Given the description of an element on the screen output the (x, y) to click on. 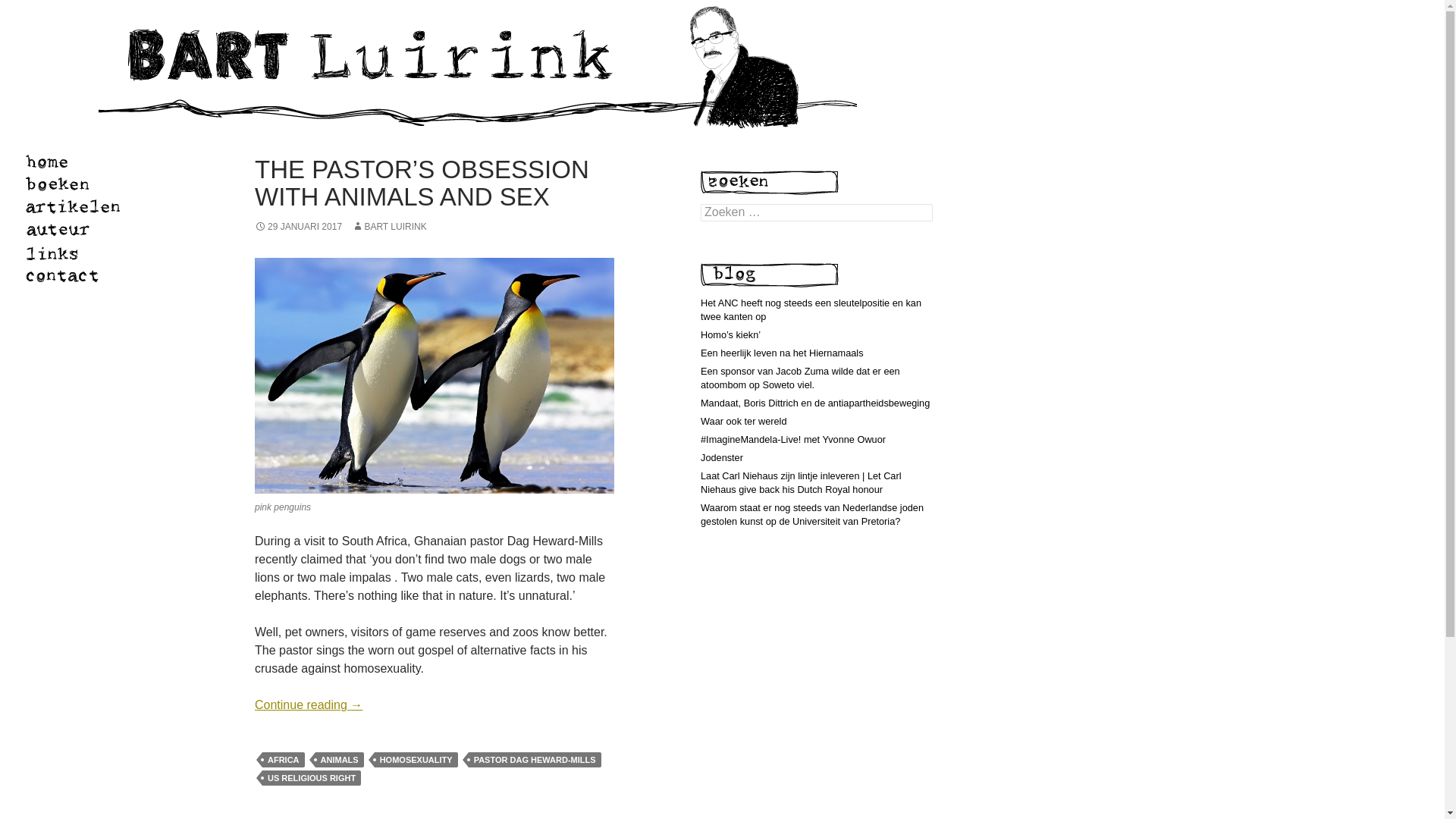
Contact (69, 276)
Mandaat, Boris Dittrich en de antiapartheidsbeweging (815, 402)
PASTOR DAG HEWARD-MILLS (534, 759)
Links (64, 253)
Zoeken (30, 8)
US RELIGIOUS RIGHT (311, 777)
ANIMALS (339, 759)
Boeken (66, 185)
Een heerlijk leven na het Hiernamaals (781, 352)
Waar ook ter wereld (743, 420)
29 JANUARI 2017 (298, 226)
HOME (62, 162)
HOMOSEXUALITY (416, 759)
